Given the description of an element on the screen output the (x, y) to click on. 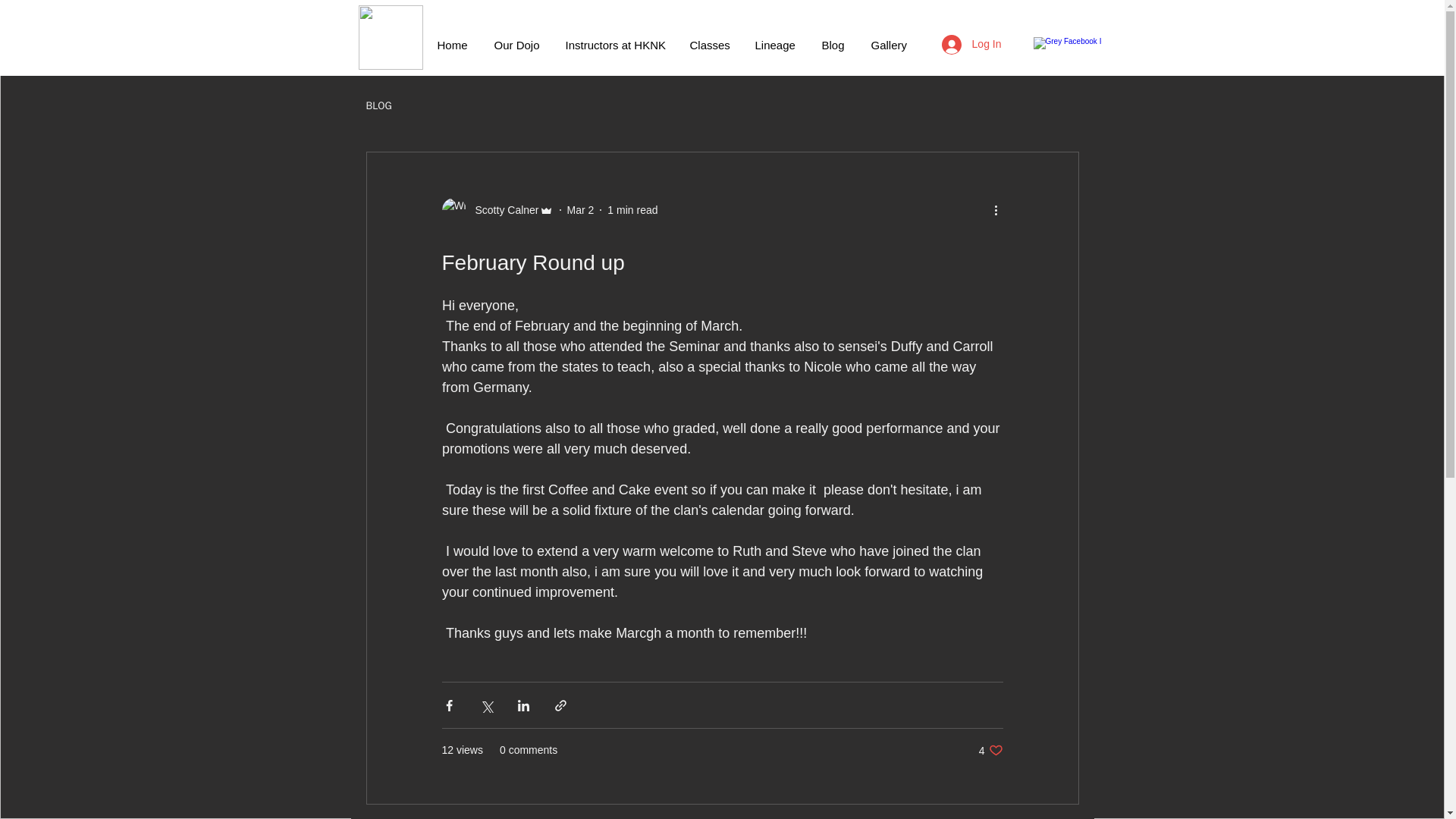
BLOG (990, 749)
Instructors at HKNK (378, 106)
Blog (619, 44)
Lineage (838, 44)
Mar 2 (780, 44)
1 min read (580, 209)
Our Dojo (632, 209)
Log In (521, 44)
Home (971, 44)
